Given the description of an element on the screen output the (x, y) to click on. 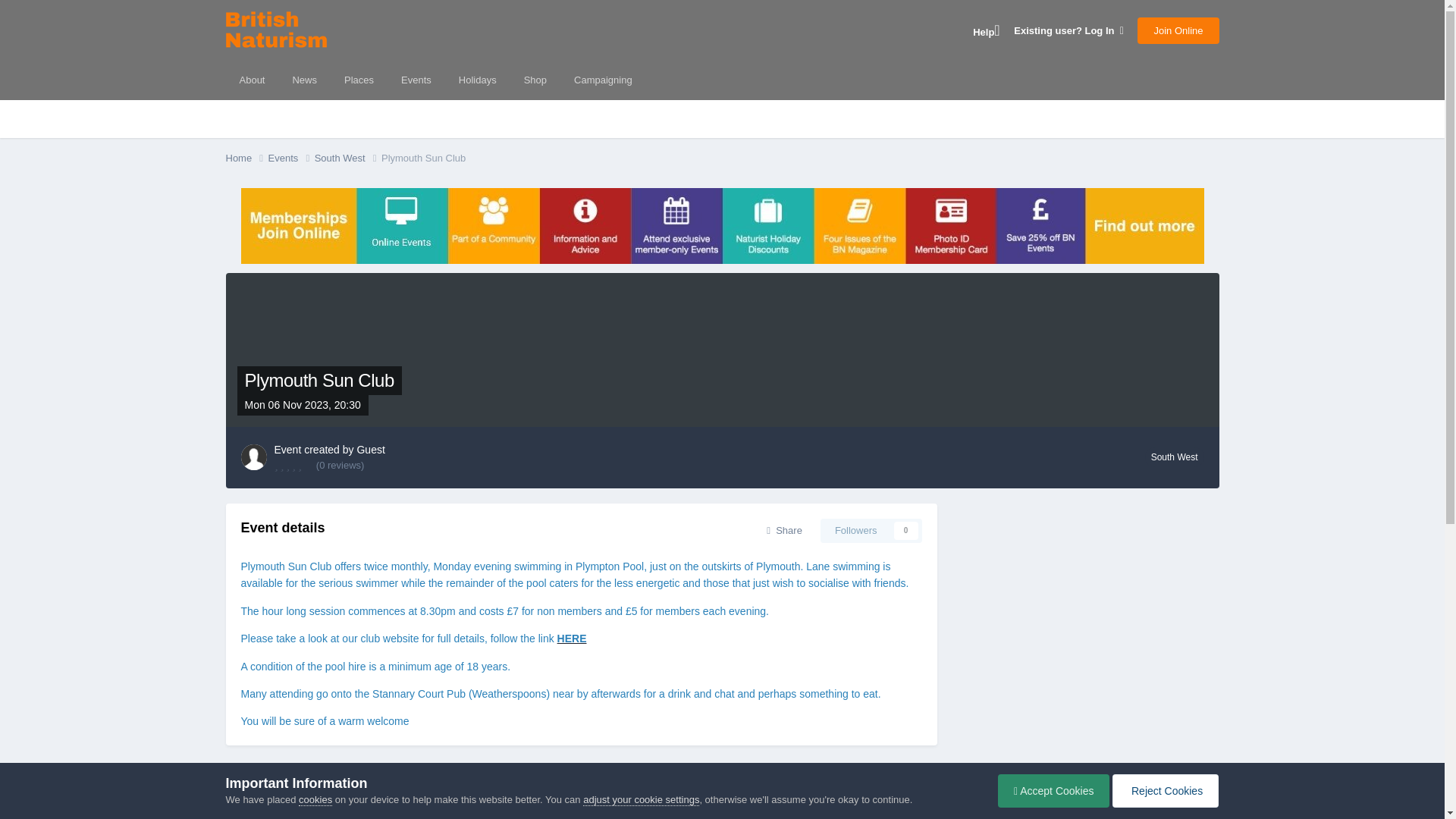
Help (985, 29)
Existing user? Log In   (1068, 30)
Help (985, 29)
Sign in to follow this (871, 530)
About (252, 79)
Home (246, 158)
Home (246, 775)
News (304, 79)
Events (416, 79)
Join Online (1177, 29)
